Given the description of an element on the screen output the (x, y) to click on. 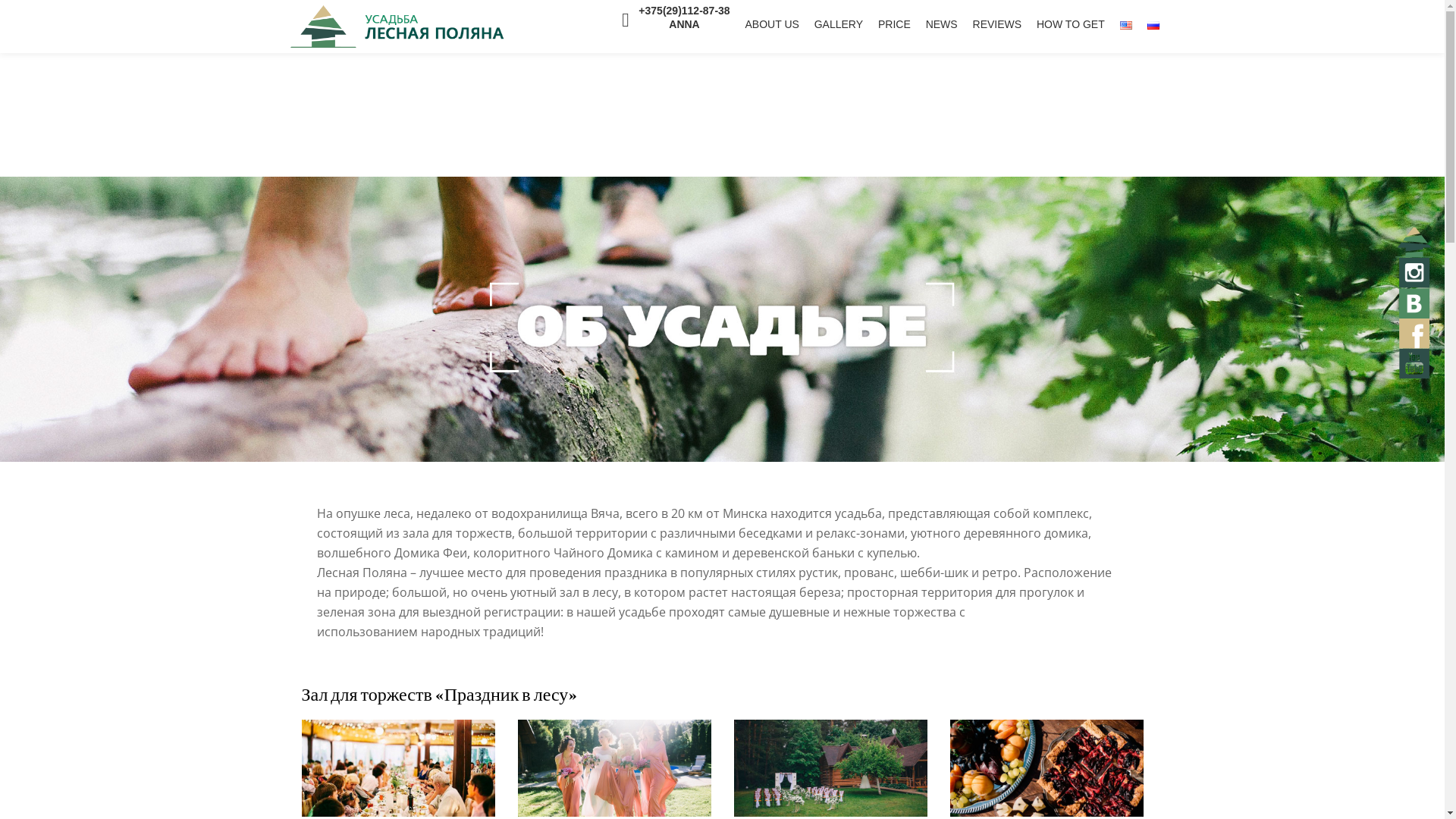
GALLERY Element type: text (838, 23)
HOW TO GET Element type: text (1070, 23)
+375(29)112-87-38
ANNA Element type: text (683, 17)
English Element type: hover (1126, 25)
REVIEWS Element type: text (997, 23)
PRICE Element type: text (894, 23)
NEWS Element type: text (941, 23)
ABOUT US Element type: text (772, 23)
Skip to content Element type: text (0, 30)
